Given the description of an element on the screen output the (x, y) to click on. 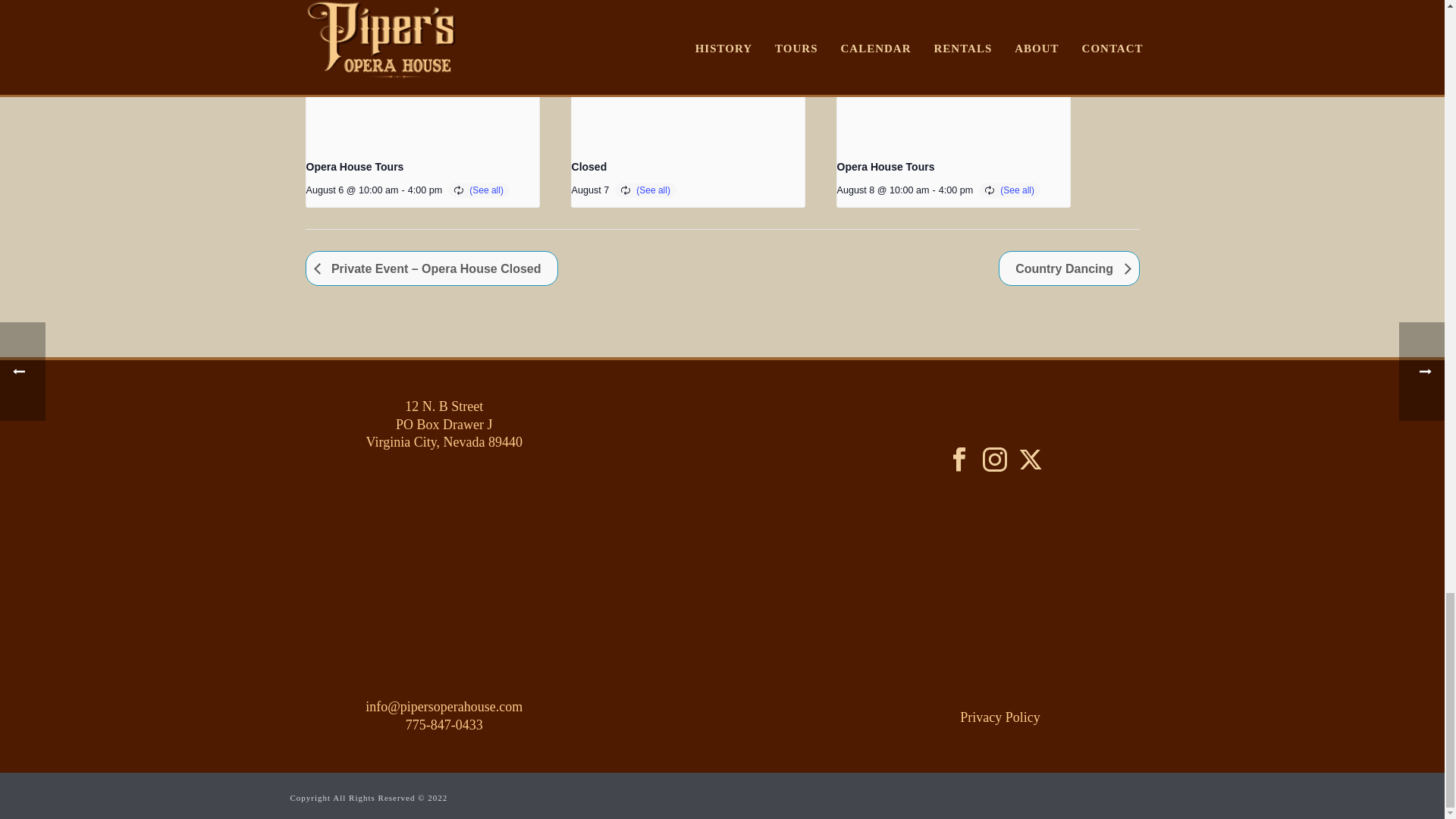
Opera House Tours (354, 166)
Closed (589, 166)
 twitter (1029, 460)
 instagram (994, 460)
 facebook (959, 460)
